Given the description of an element on the screen output the (x, y) to click on. 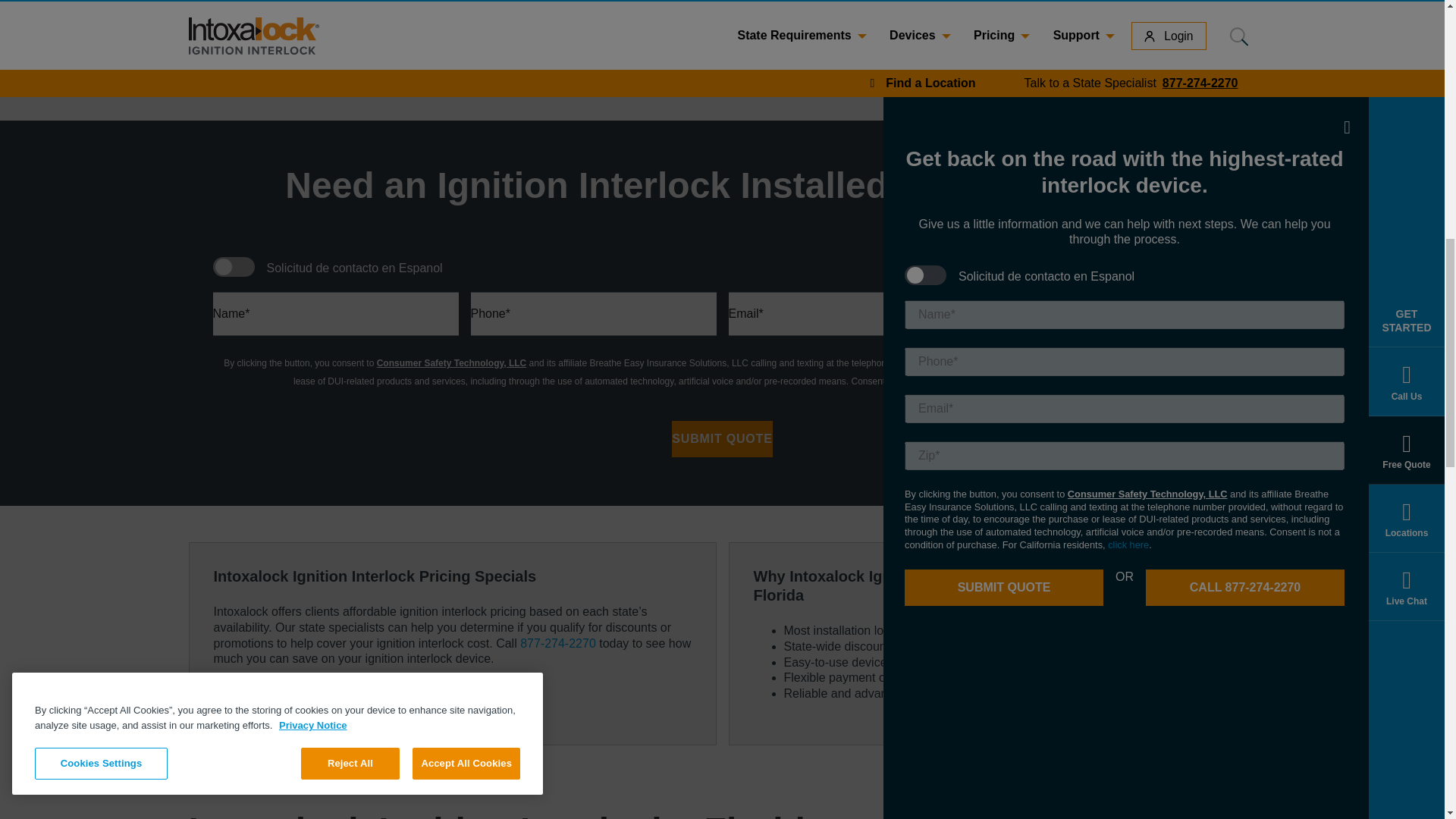
State Privacy Notices (1128, 380)
